Given the description of an element on the screen output the (x, y) to click on. 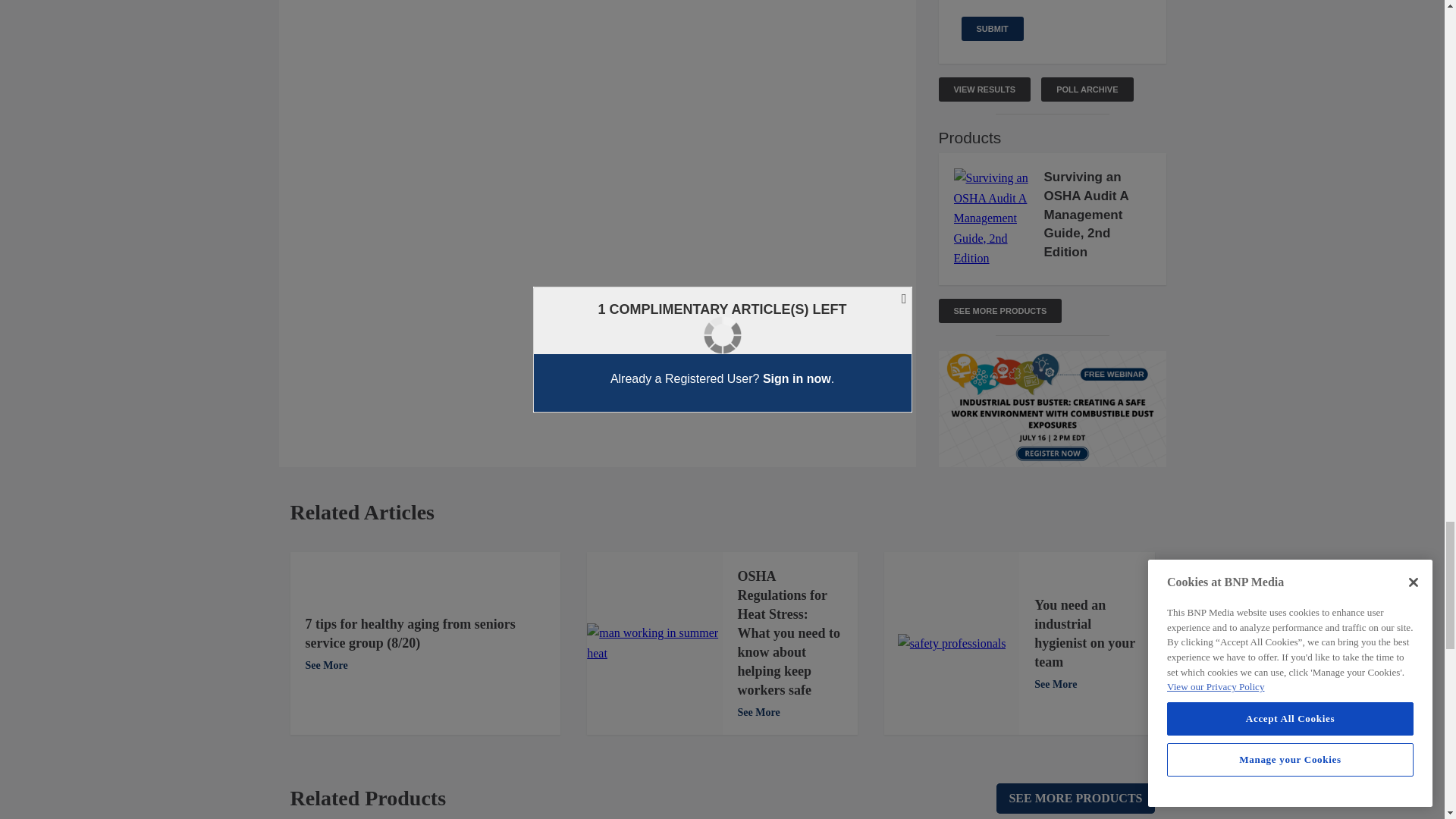
safety professionals (952, 643)
man working in summer heat (654, 643)
Submit (991, 28)
